Given the description of an element on the screen output the (x, y) to click on. 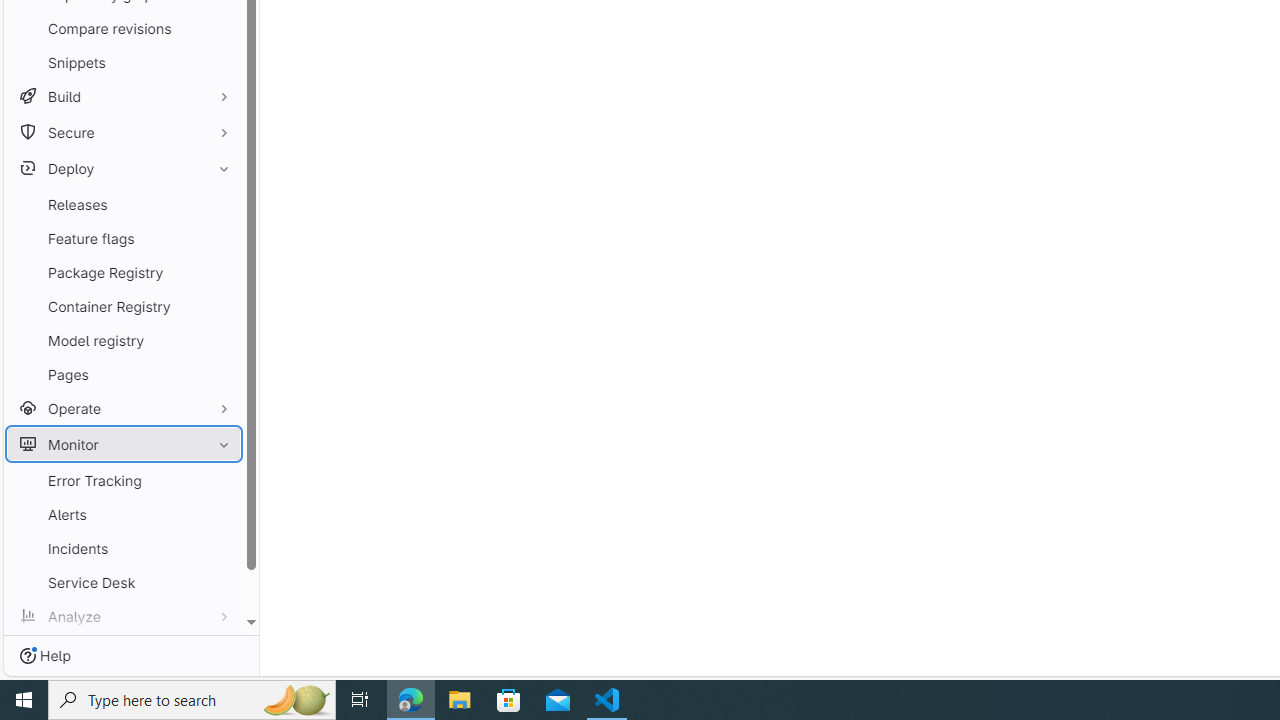
Operate (123, 407)
Alerts (123, 514)
Pin Alerts (219, 514)
Releases (123, 204)
Deploy (123, 168)
Incidents (123, 548)
Service Desk (123, 582)
Compare revisions (123, 28)
Package Registry (123, 272)
Pin Releases (219, 204)
Pin Compare revisions (219, 28)
Monitor (123, 443)
Alerts (123, 514)
Analyze (123, 615)
